Given the description of an element on the screen output the (x, y) to click on. 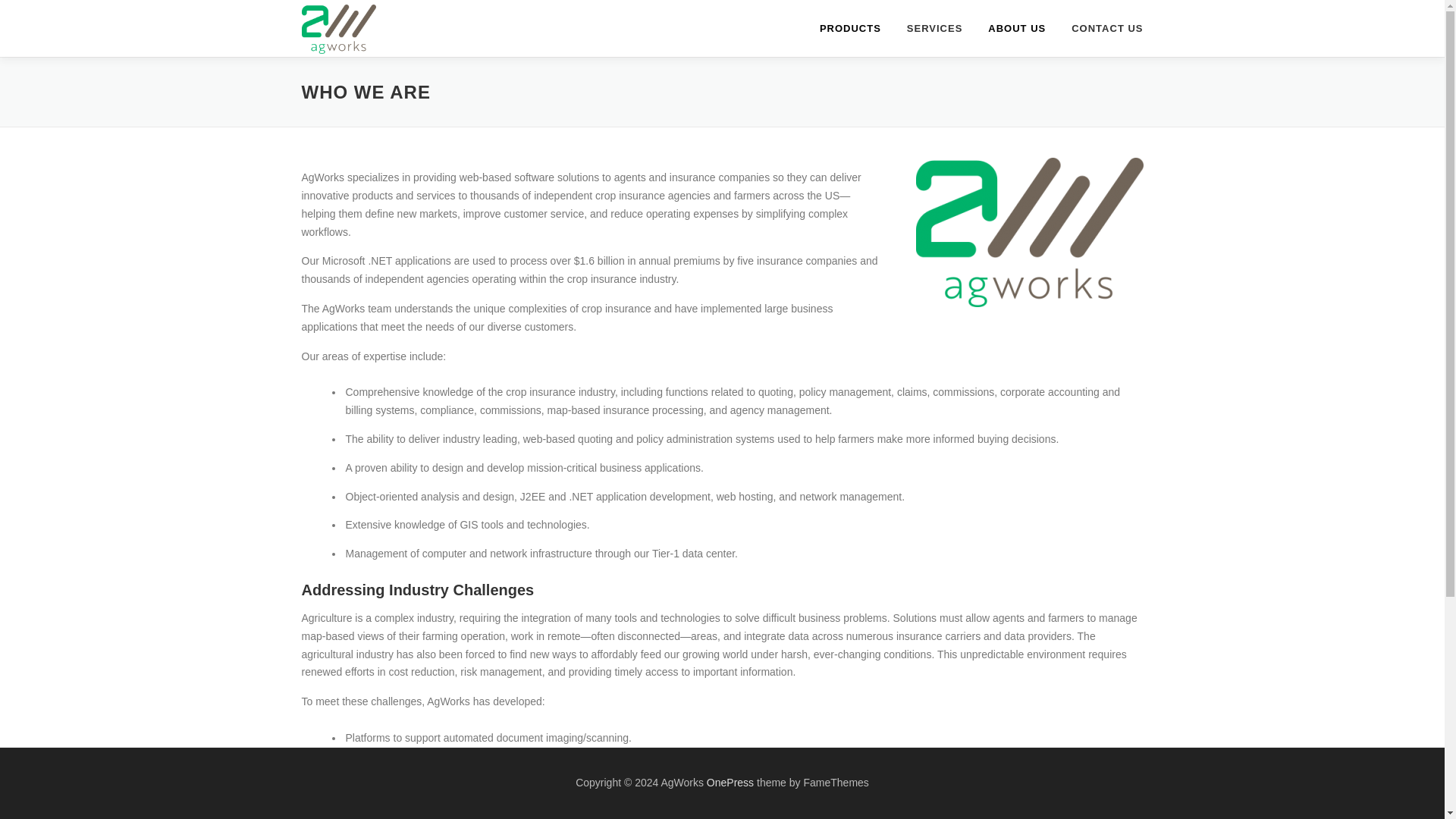
OnePress (730, 782)
PRODUCTS (849, 28)
SERVICES (934, 28)
CONTACT US (1100, 28)
ABOUT US (1016, 28)
